Given the description of an element on the screen output the (x, y) to click on. 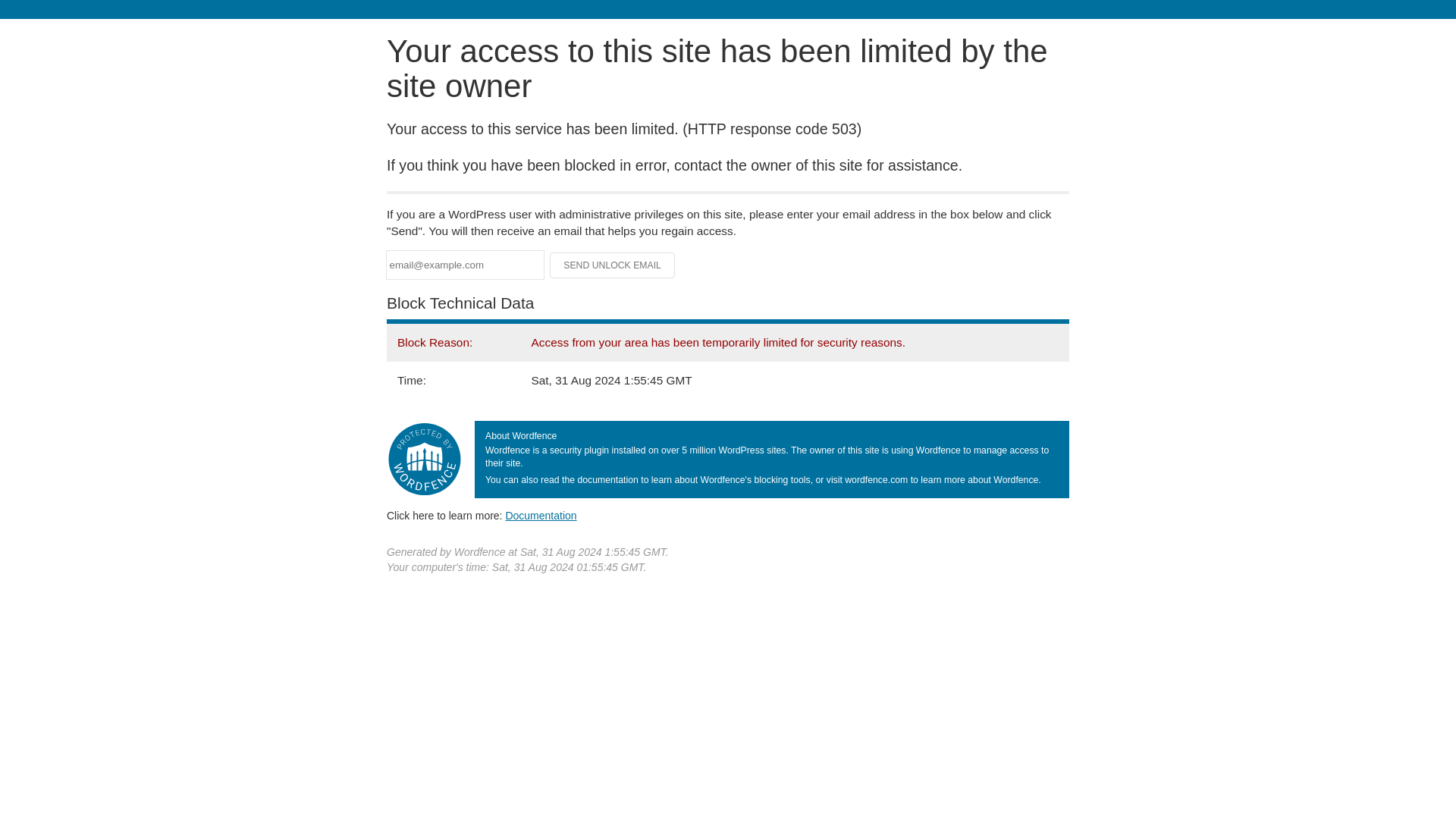
Documentation (540, 515)
Send Unlock Email (612, 265)
Send Unlock Email (612, 265)
